Given the description of an element on the screen output the (x, y) to click on. 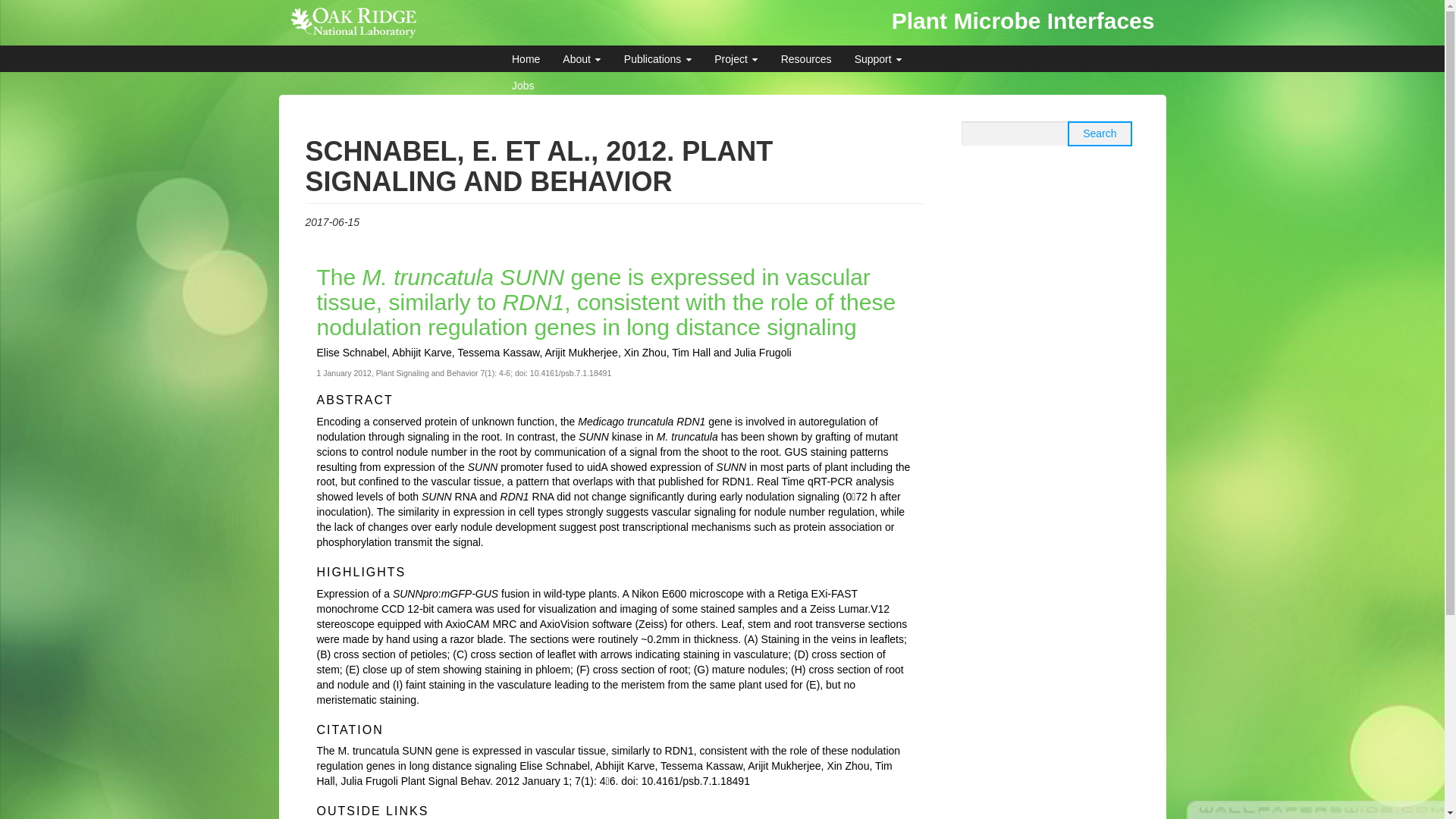
Search (1099, 133)
Support (878, 58)
Home (525, 58)
Jobs (523, 85)
About (581, 58)
Resources (806, 58)
Plant Microbe Interfaces (1022, 20)
About (581, 58)
Home (525, 58)
Support (878, 58)
Project (735, 58)
Publications (657, 58)
Plant Microbe Interfaces (1022, 20)
Search (1099, 133)
Project (735, 58)
